Given the description of an element on the screen output the (x, y) to click on. 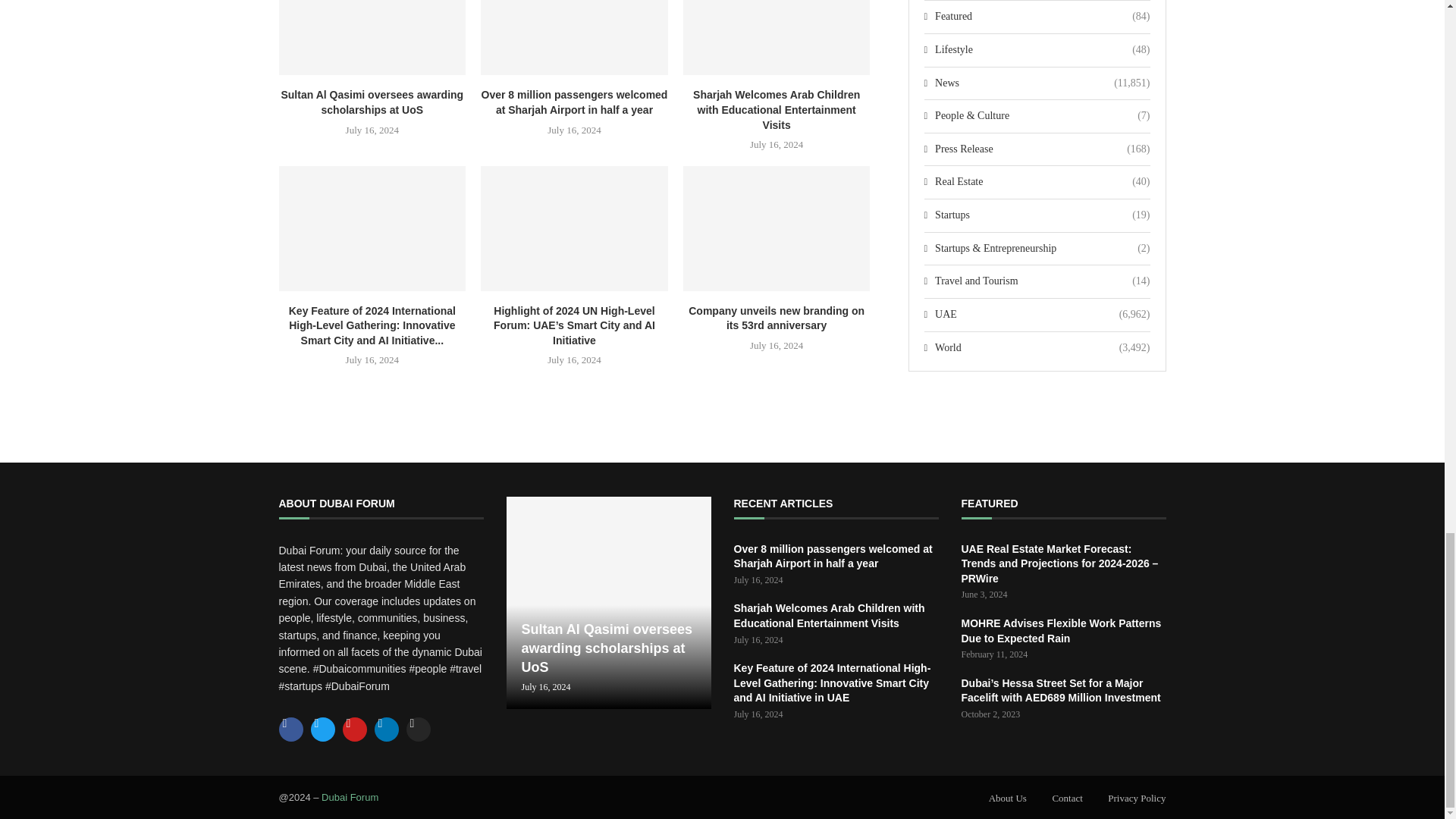
Sultan Al Qasimi oversees awarding scholarships at UoS (372, 37)
Company unveils new branding on its 53rd anniversary (776, 228)
